Given the description of an element on the screen output the (x, y) to click on. 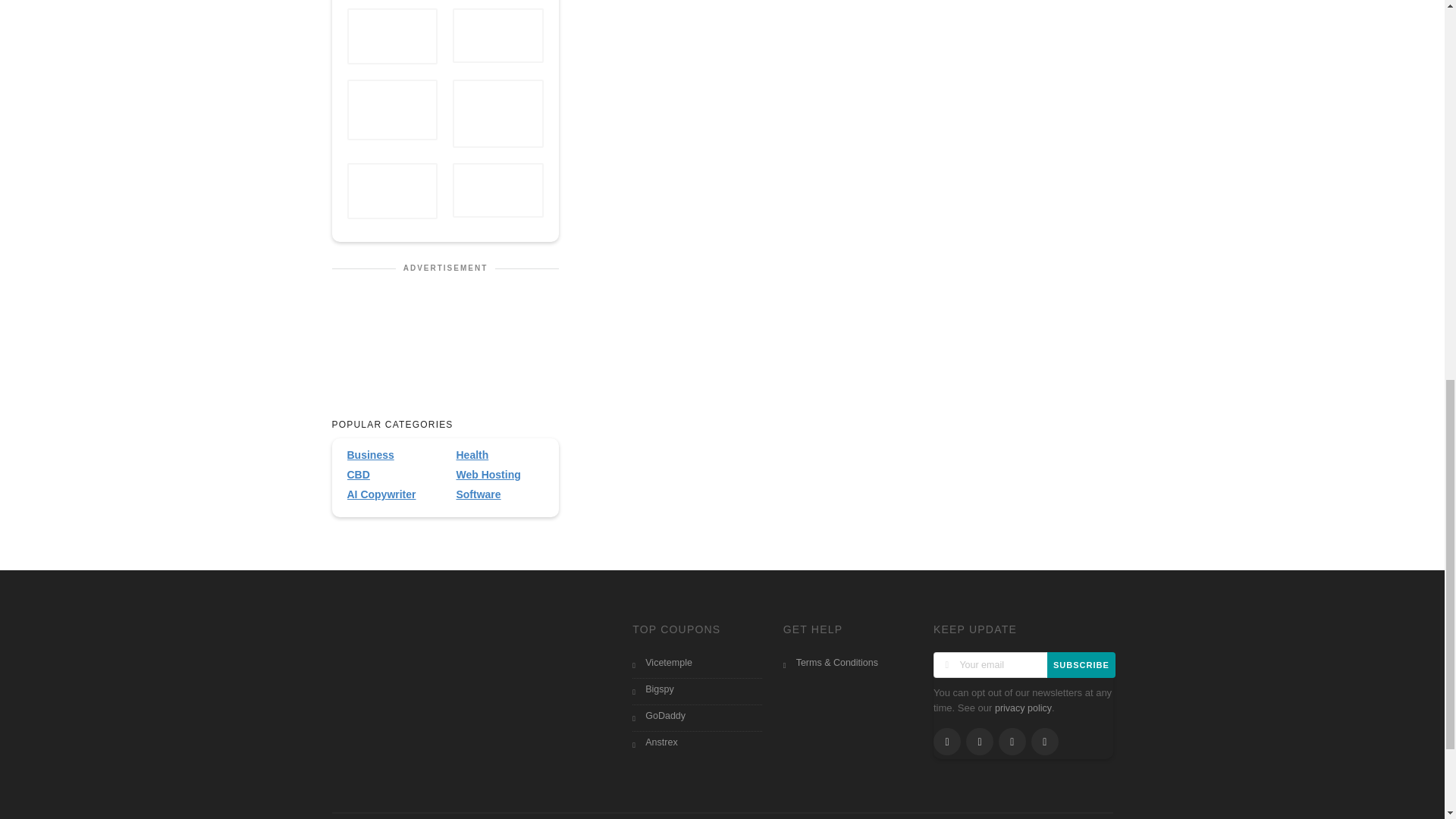
CBD (391, 475)
HostGator Coupons (392, 190)
DHgate Coupons (497, 191)
Health (499, 455)
Goli Coupon (497, 113)
Business (391, 455)
Bluehost Coupons (392, 109)
GoDaddy Coupons (392, 36)
Linode Coupons (497, 37)
